Given the description of an element on the screen output the (x, y) to click on. 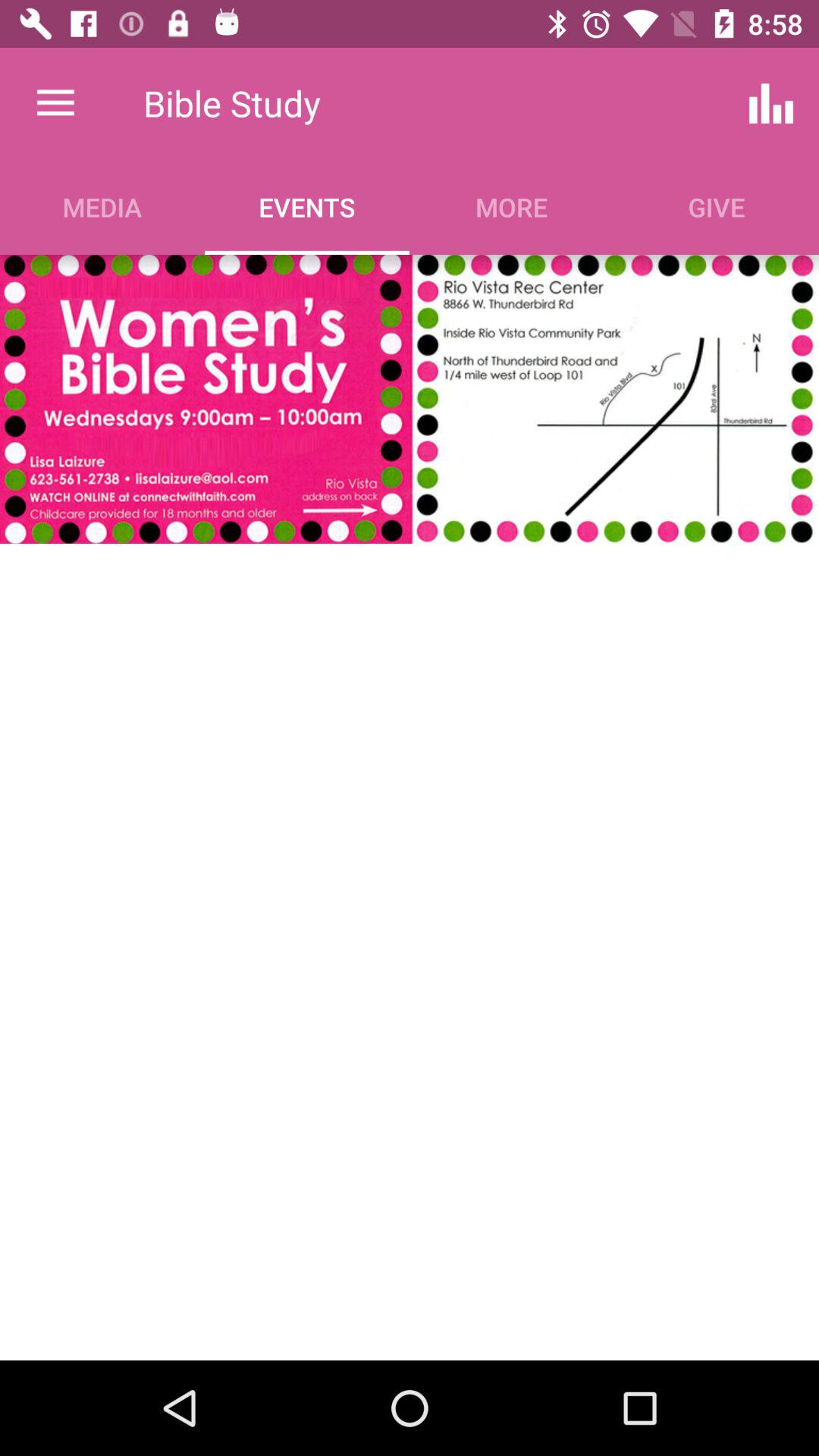
press the item to the left of the bible study icon (55, 103)
